Given the description of an element on the screen output the (x, y) to click on. 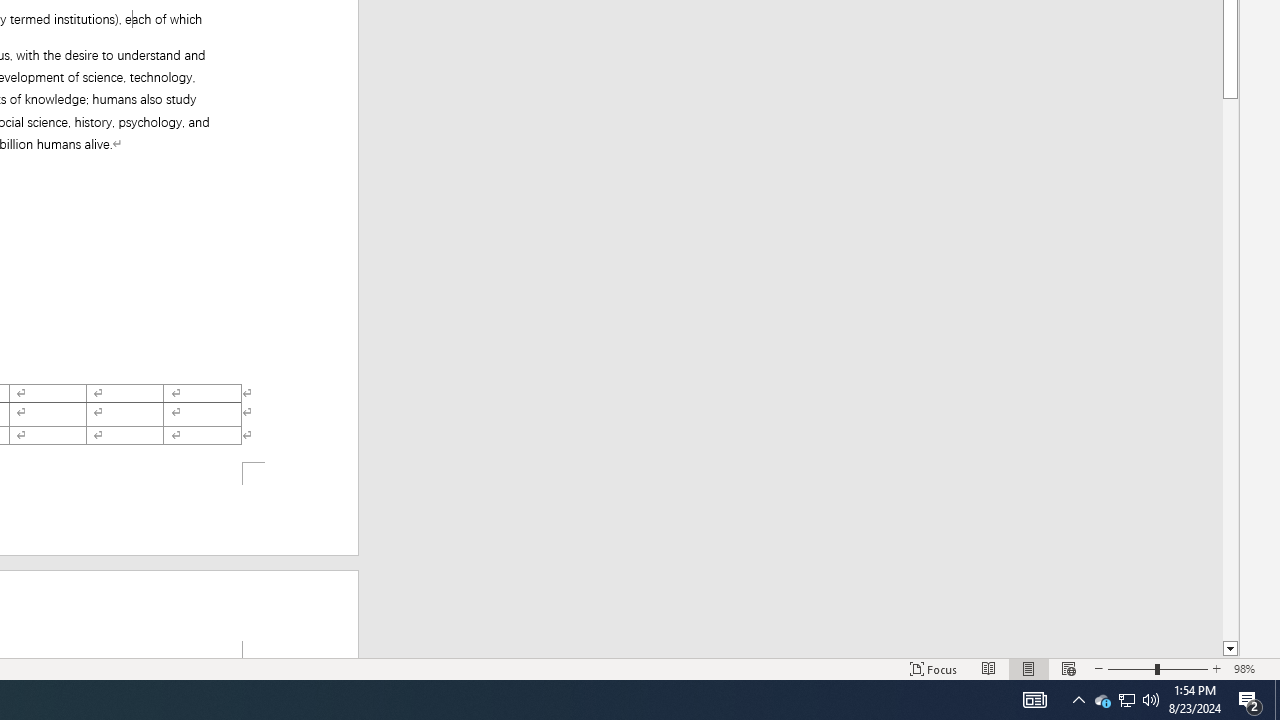
Zoom (1158, 668)
